Given the description of an element on the screen output the (x, y) to click on. 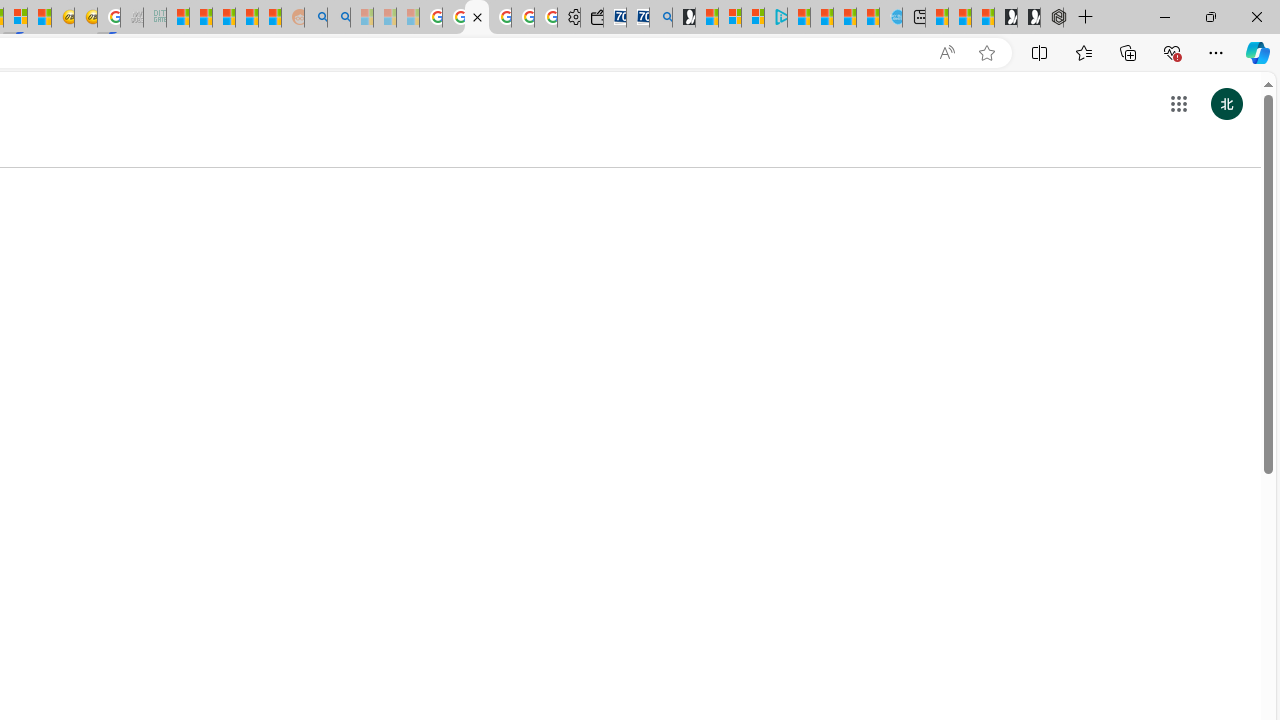
Cheap Car Rentals - Save70.com (637, 17)
Class: gb_E (1178, 103)
Utah sues federal government - Search (338, 17)
